Given the description of an element on the screen output the (x, y) to click on. 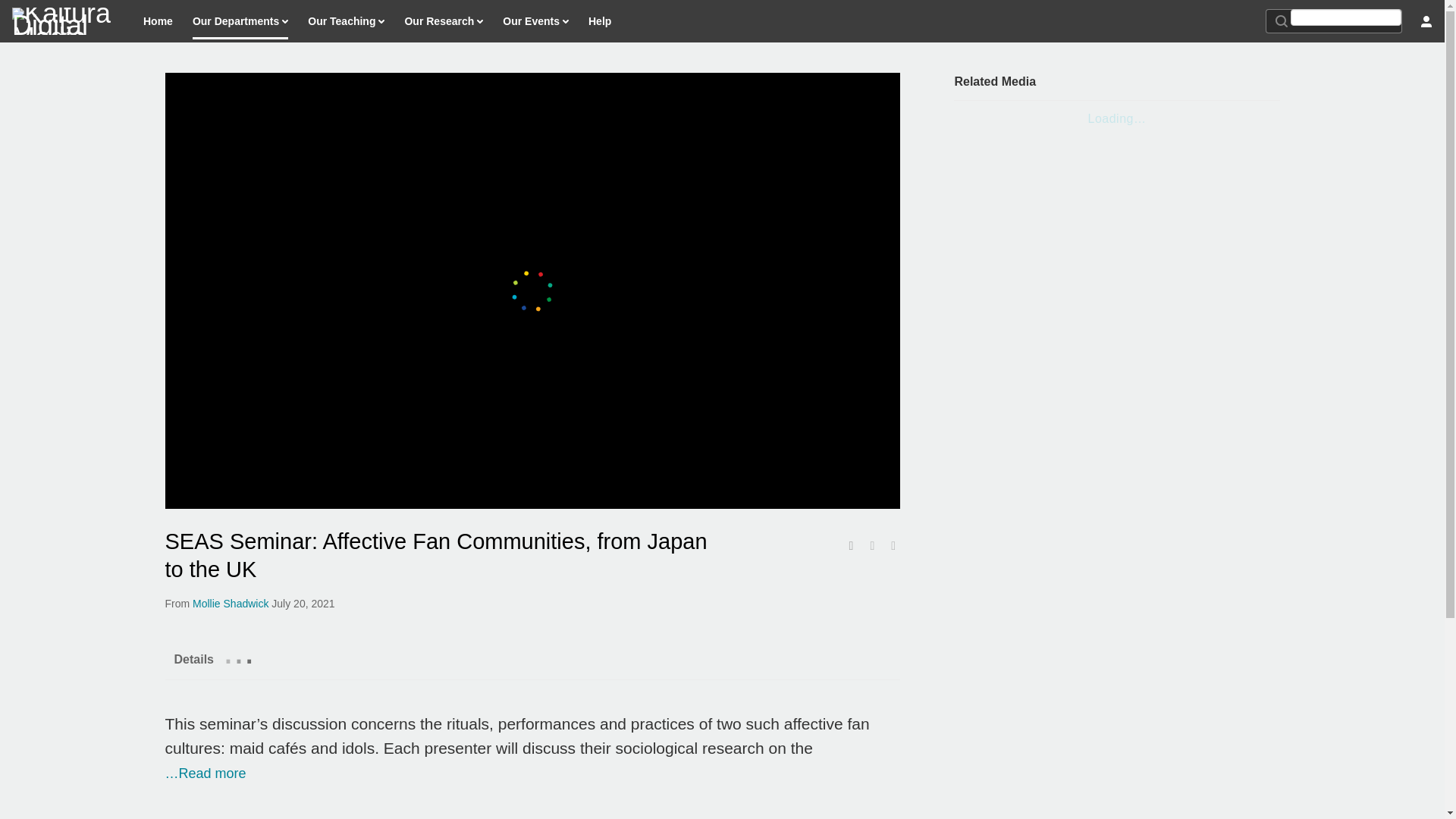
Our Events (535, 21)
Our Teaching (346, 21)
Our Departments (240, 21)
Help (599, 21)
Details (193, 658)
Home (157, 21)
Mollie Shadwick (229, 603)
Our Research (443, 21)
